Given the description of an element on the screen output the (x, y) to click on. 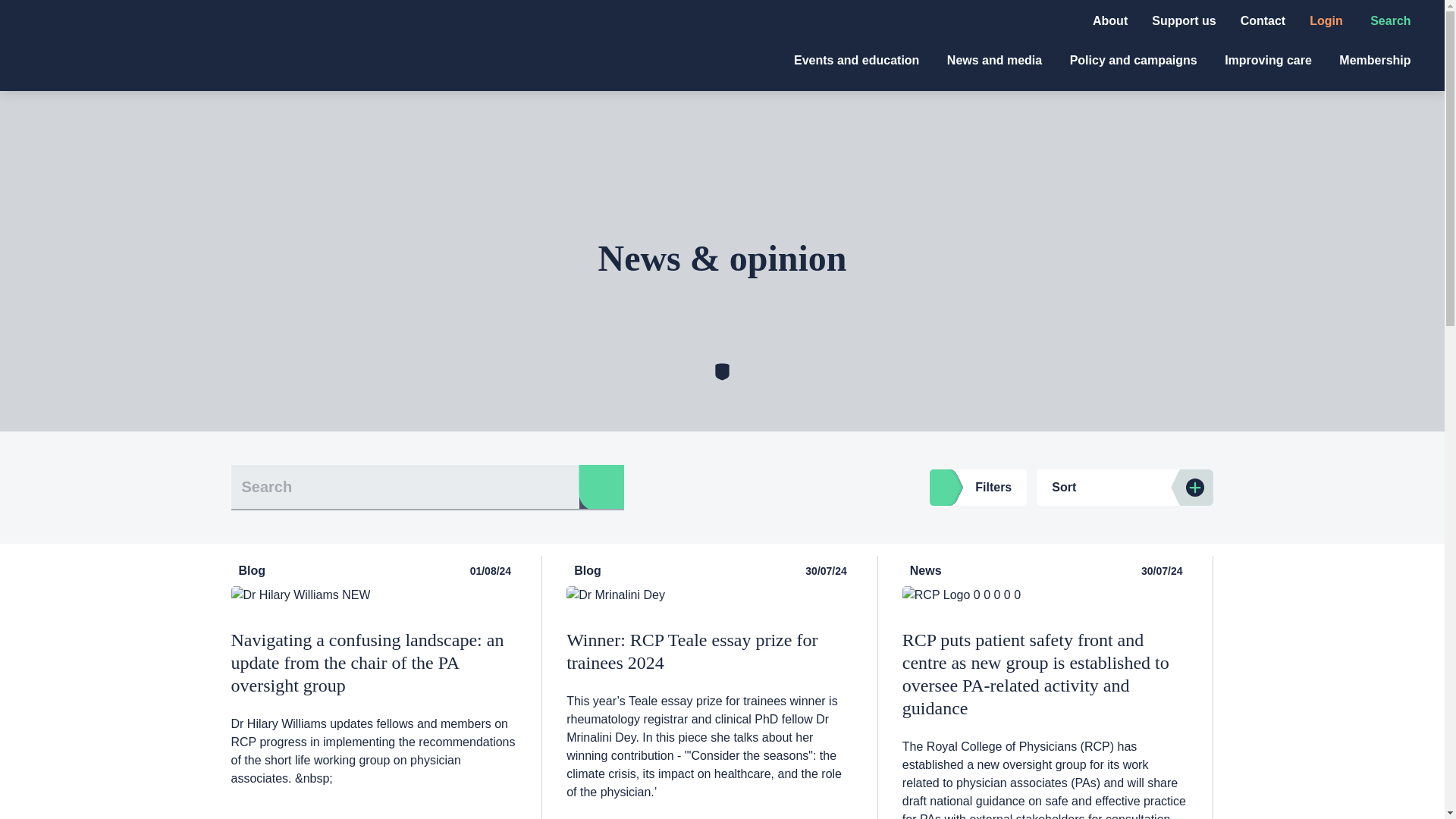
About (1109, 20)
News and media (996, 60)
Login (1326, 20)
Improving care (1269, 60)
Contact (1262, 20)
Support us (1183, 20)
Policy and campaigns (1135, 60)
